Given the description of an element on the screen output the (x, y) to click on. 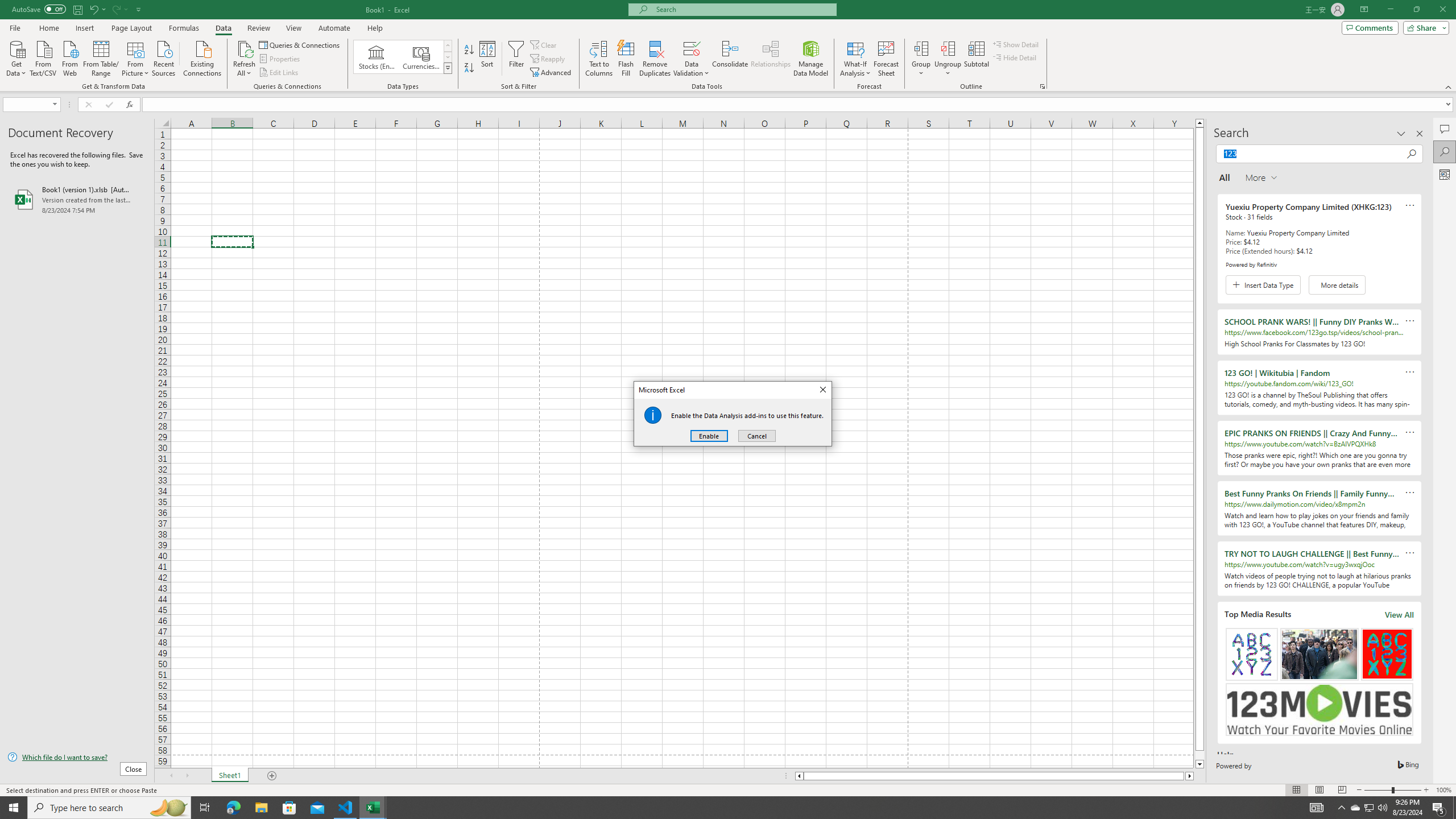
Consolidate... (1355, 807)
Excel - 2 running windows (729, 58)
Task View (1368, 807)
AutomationID: 4105 (373, 807)
